Given the description of an element on the screen output the (x, y) to click on. 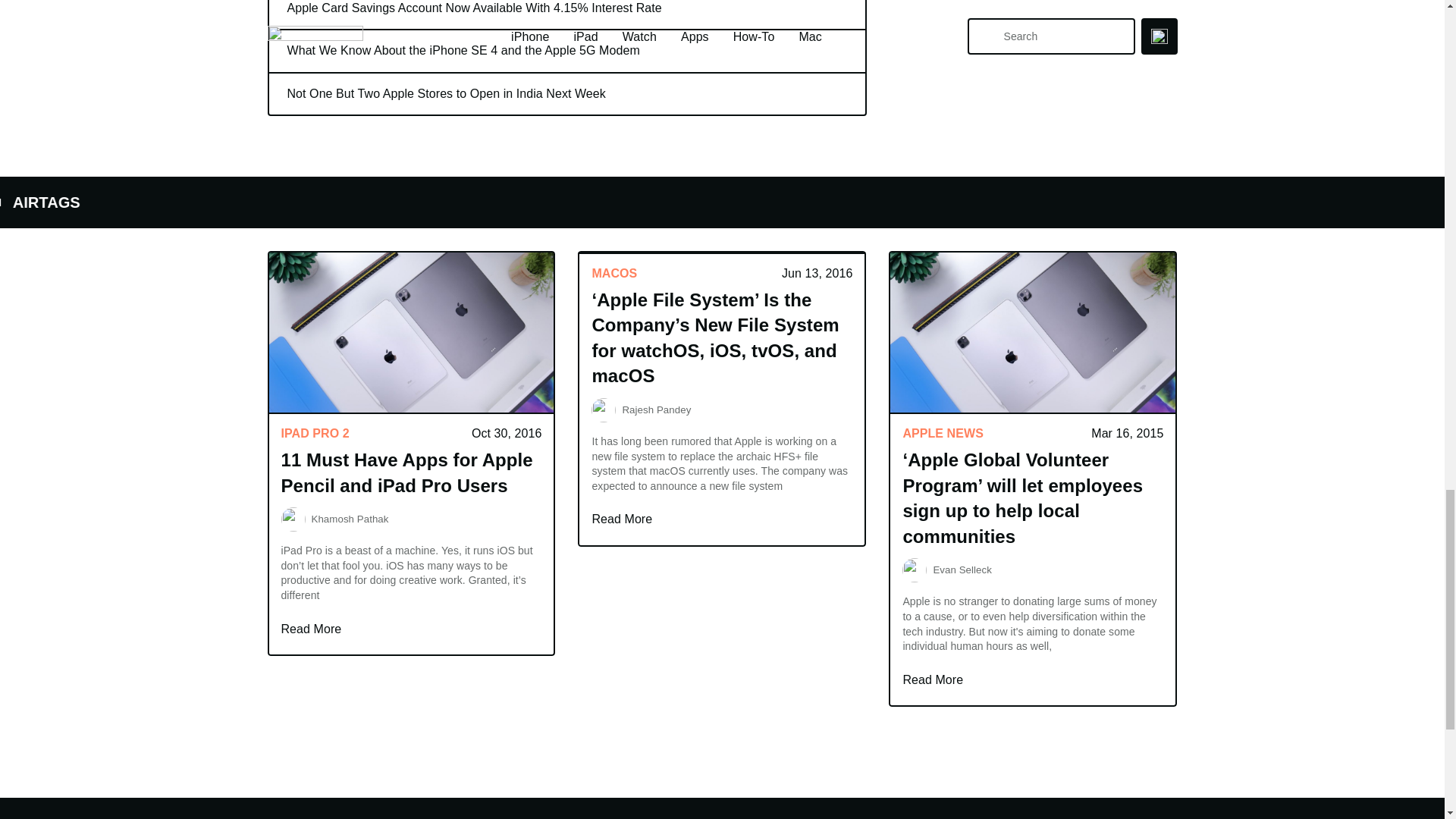
AIRTAGS (618, 202)
Not One But Two Apple Stores to Open in India Next Week (565, 93)
HOMEPOD (516, 202)
AIRPODS (272, 202)
APPLE WATCH (152, 202)
What We Know About the iPhone SE 4 and the Apple 5G Modem (565, 50)
APPLE PENCIL (391, 202)
APPLE NEWS (34, 202)
